Given the description of an element on the screen output the (x, y) to click on. 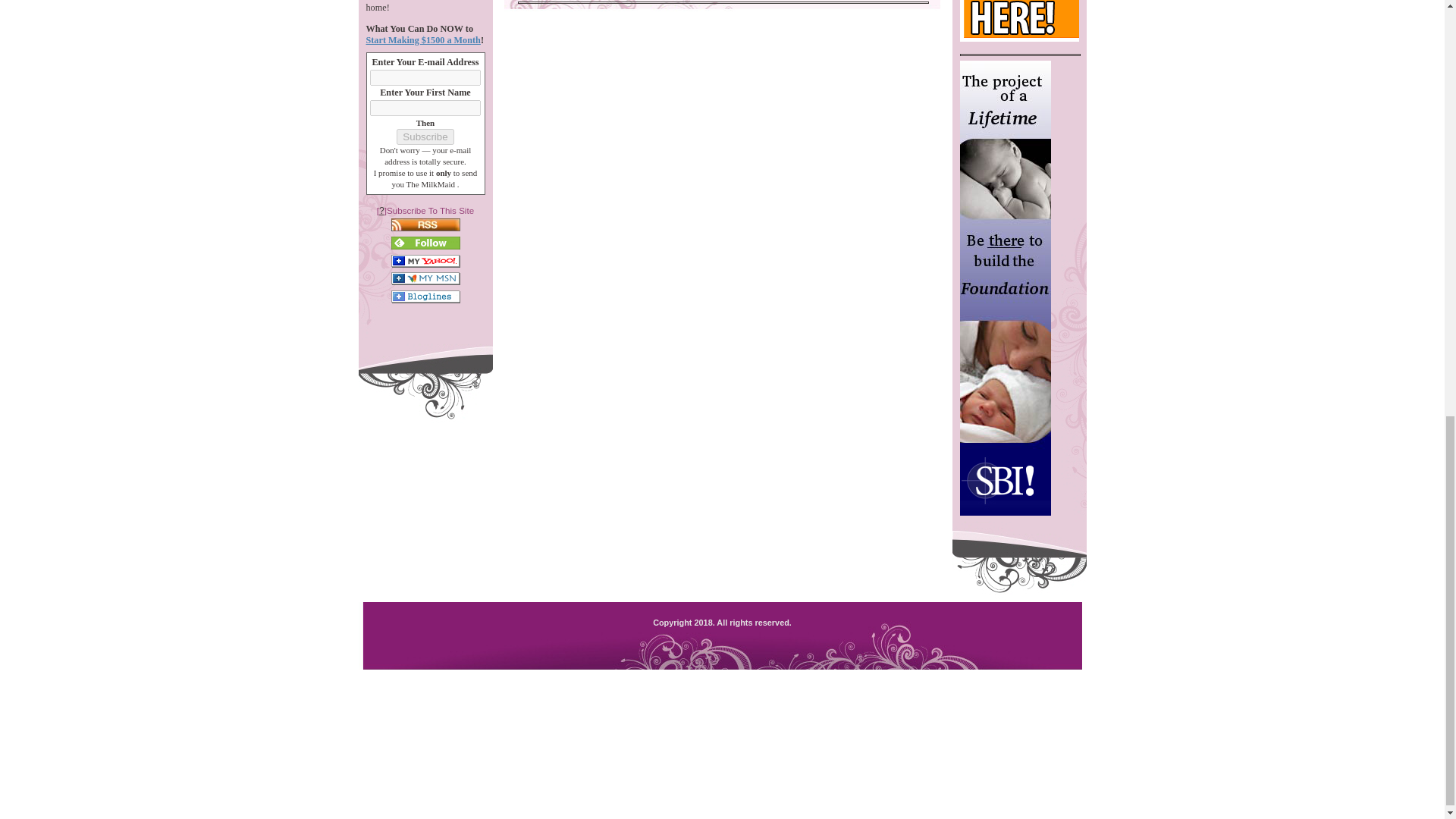
? (381, 210)
Subscribe (424, 136)
make money blogging (1024, 20)
Advertisement (721, 781)
Advertisement (721, 130)
Advertisement (722, 705)
